Given the description of an element on the screen output the (x, y) to click on. 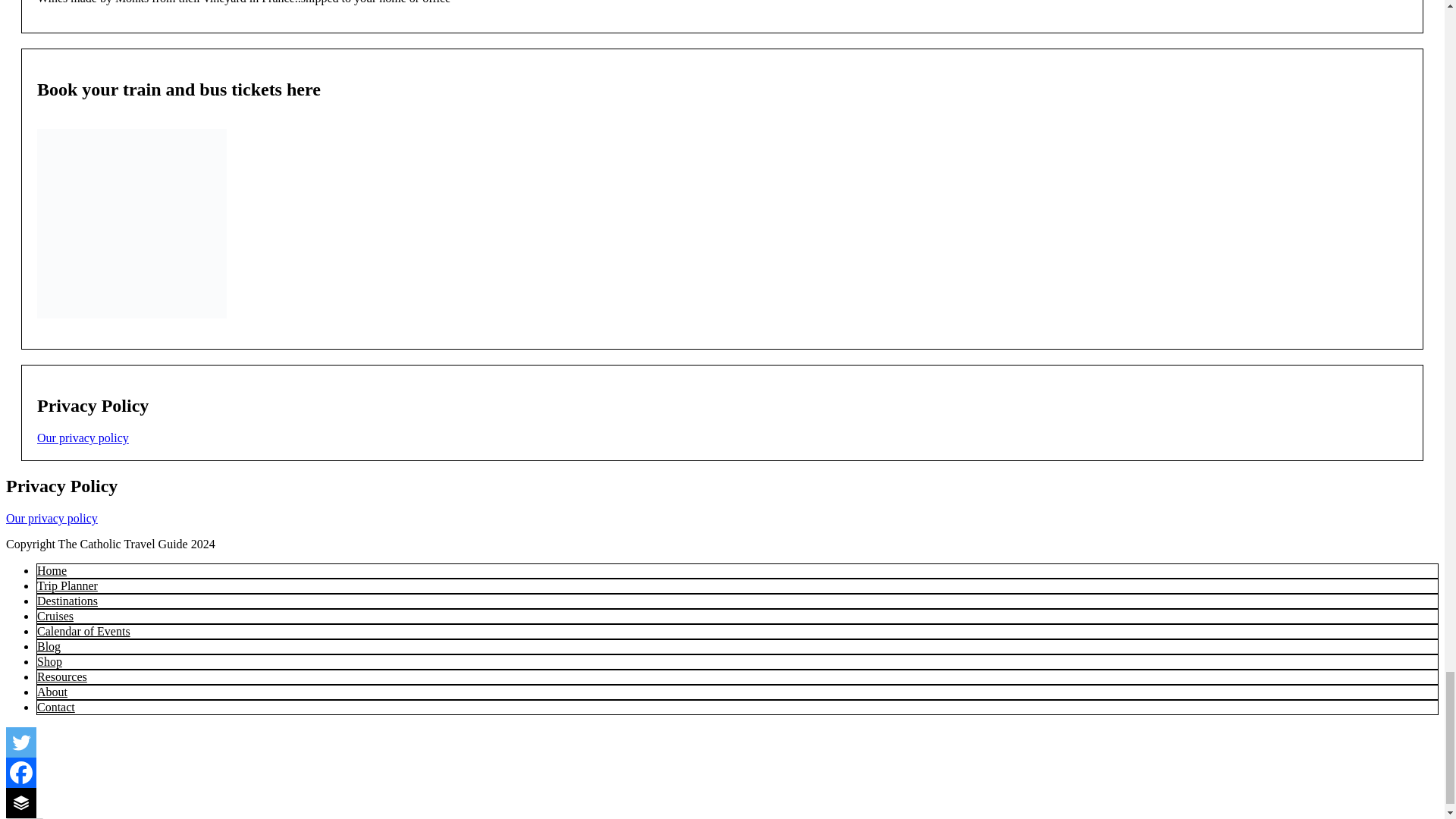
Buffer (20, 802)
Twitter (20, 742)
Facebook (20, 772)
